Given the description of an element on the screen output the (x, y) to click on. 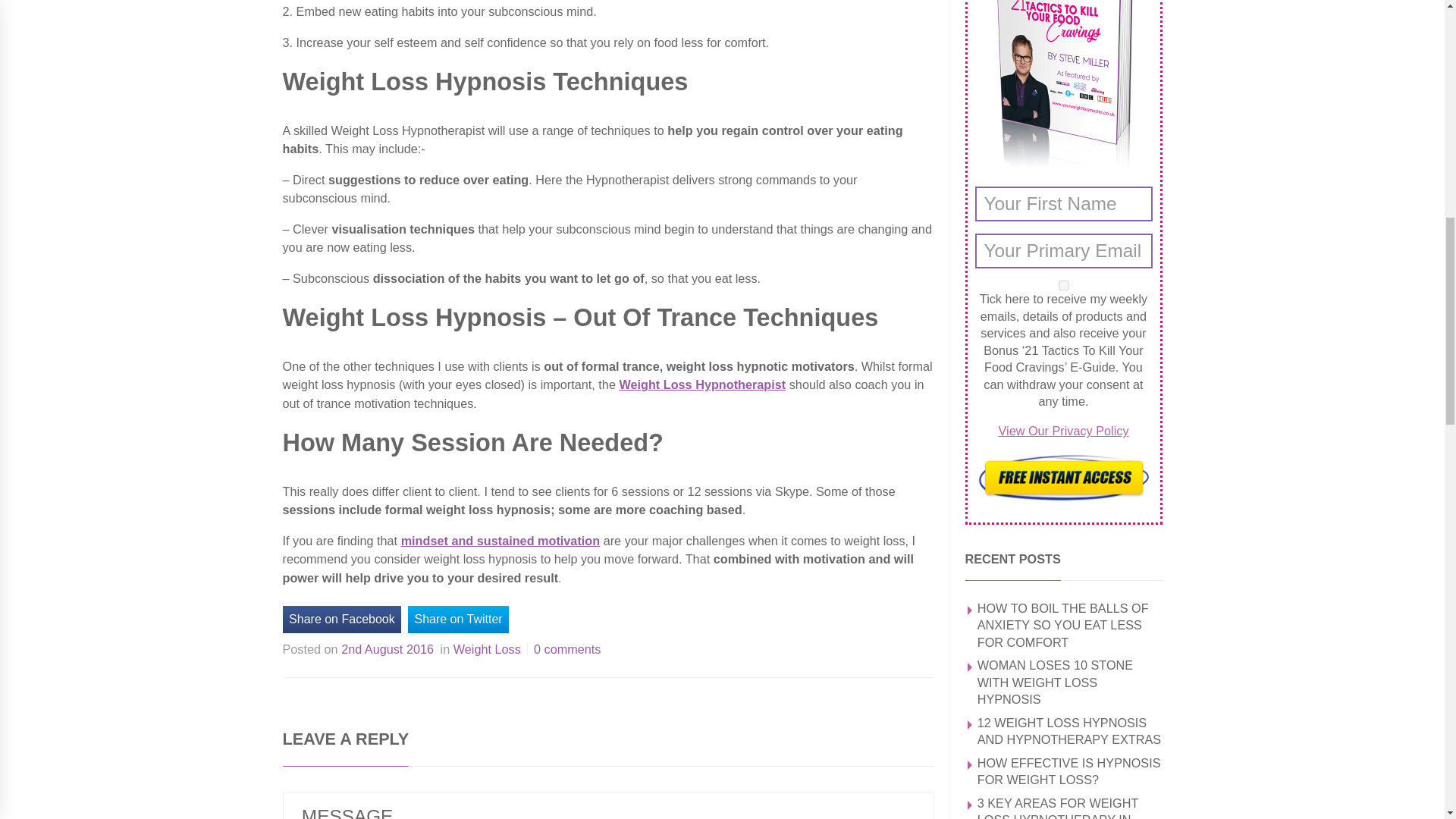
View post comments (566, 649)
yes (1064, 285)
View Our Privacy Policy (1062, 430)
